Given the description of an element on the screen output the (x, y) to click on. 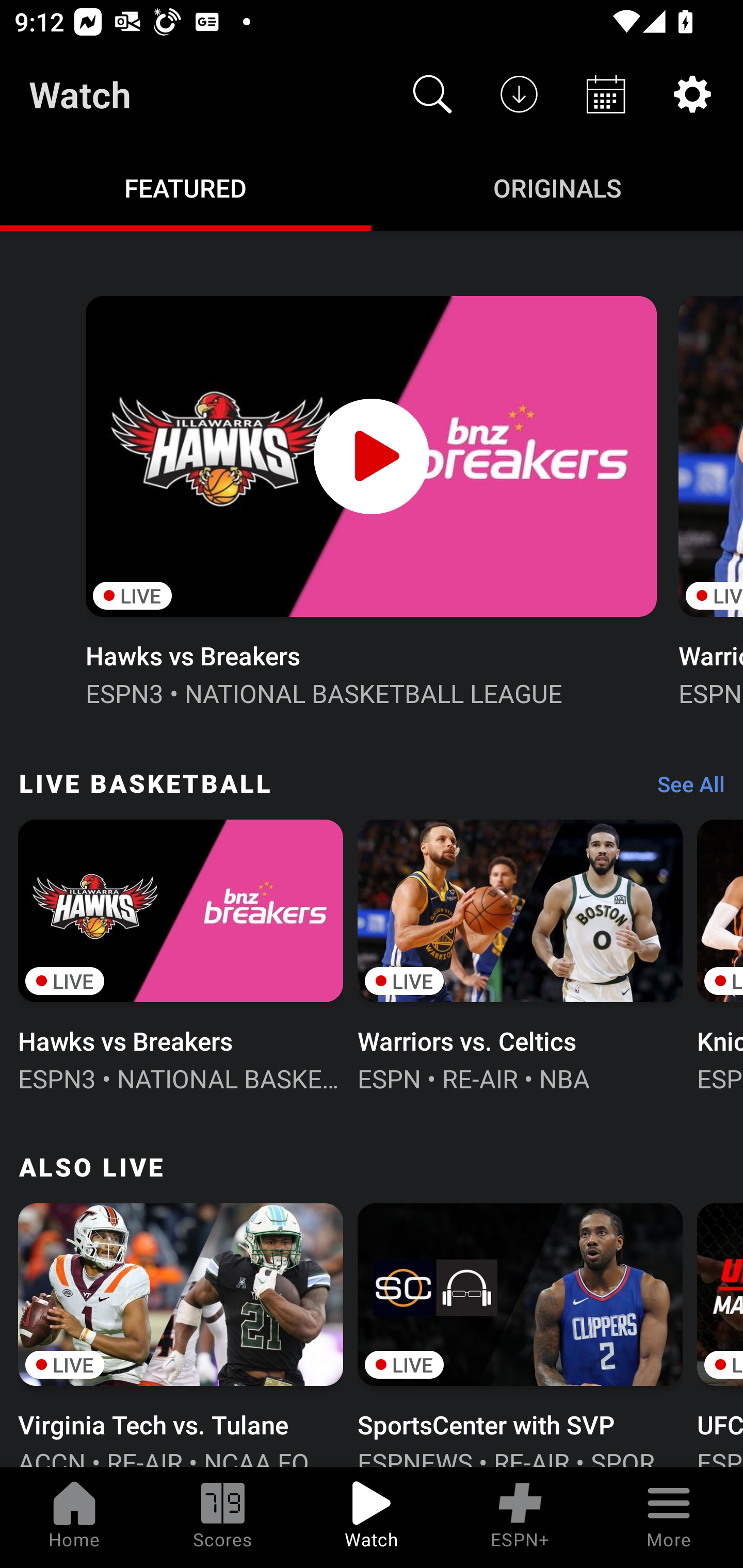
Search (432, 93)
Downloads (518, 93)
Schedule (605, 93)
Settings (692, 93)
Originals ORIGINALS (557, 187)
See All (683, 788)
LIVE Warriors vs. Celtics ESPN • RE-AIR • NBA (519, 954)
Home (74, 1517)
Scores (222, 1517)
ESPN+ (519, 1517)
More (668, 1517)
